Given the description of an element on the screen output the (x, y) to click on. 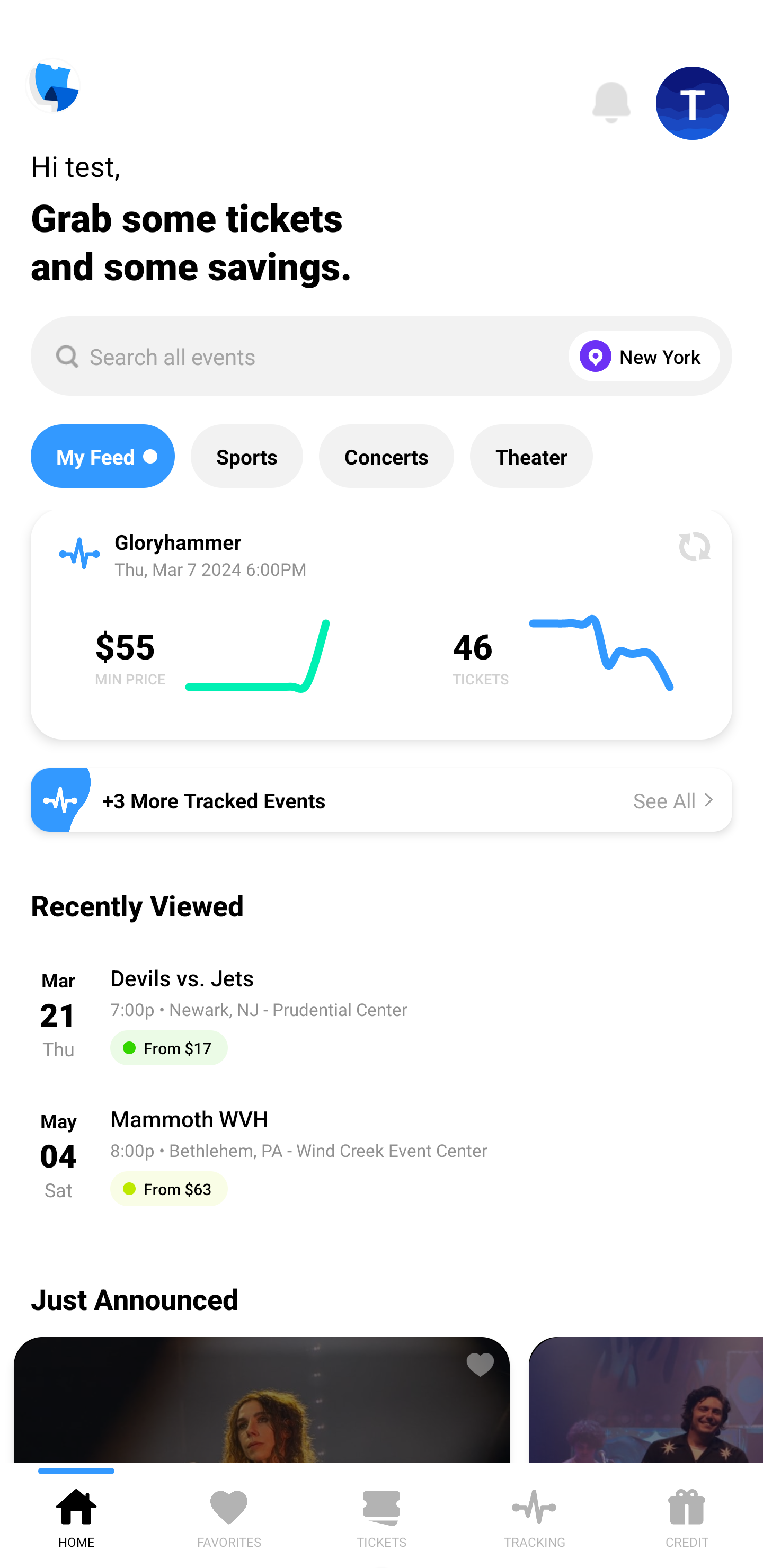
T (692, 103)
New York (640, 355)
My Feed (102, 455)
Sports (246, 455)
Concerts (385, 455)
Theater (531, 455)
HOME (76, 1515)
FAVORITES (228, 1515)
TICKETS (381, 1515)
TRACKING (533, 1515)
CREDIT (686, 1515)
